Given the description of an element on the screen output the (x, y) to click on. 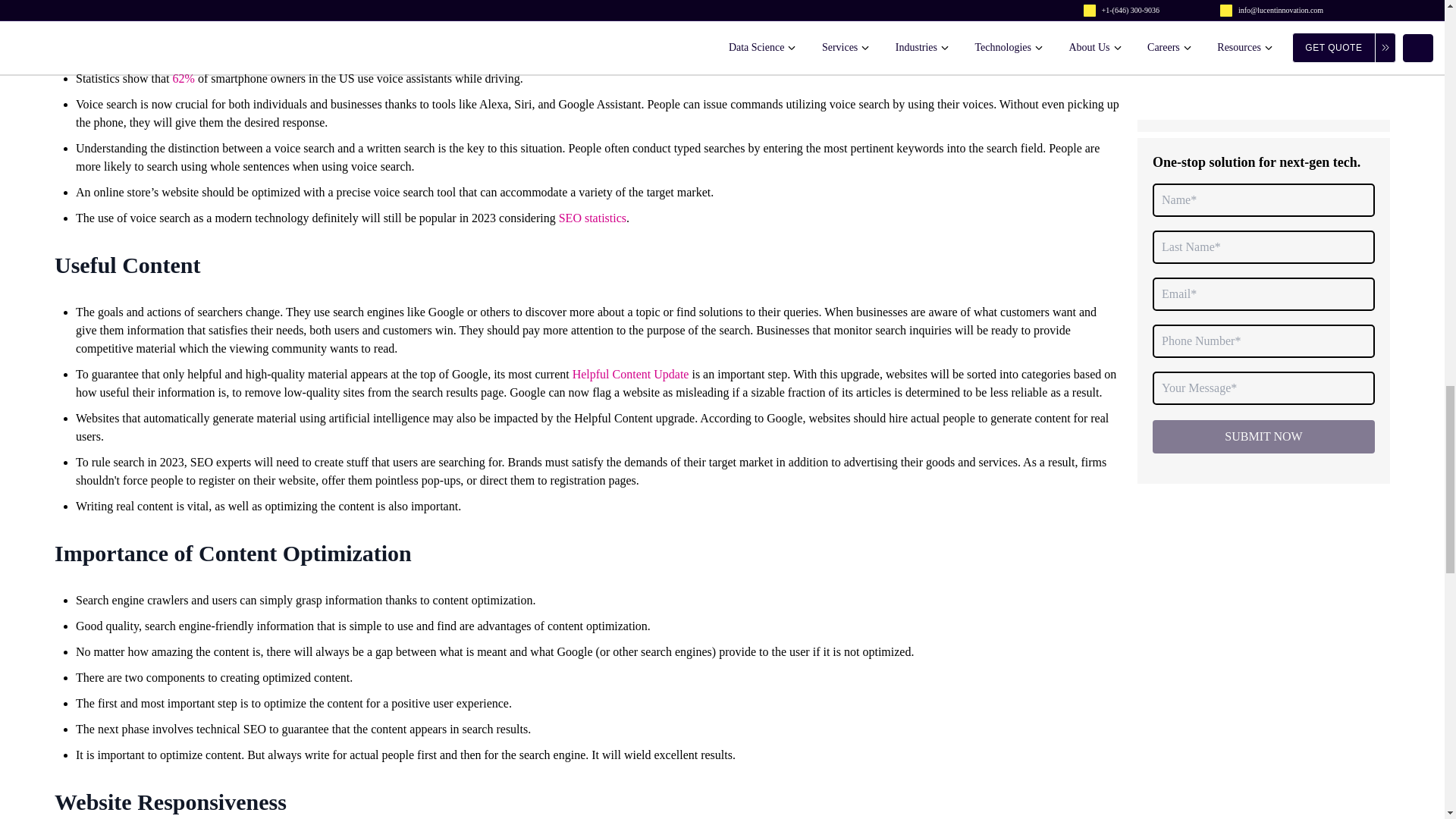
Helpful Content Update (630, 373)
SEO statistics (592, 217)
